Given the description of an element on the screen output the (x, y) to click on. 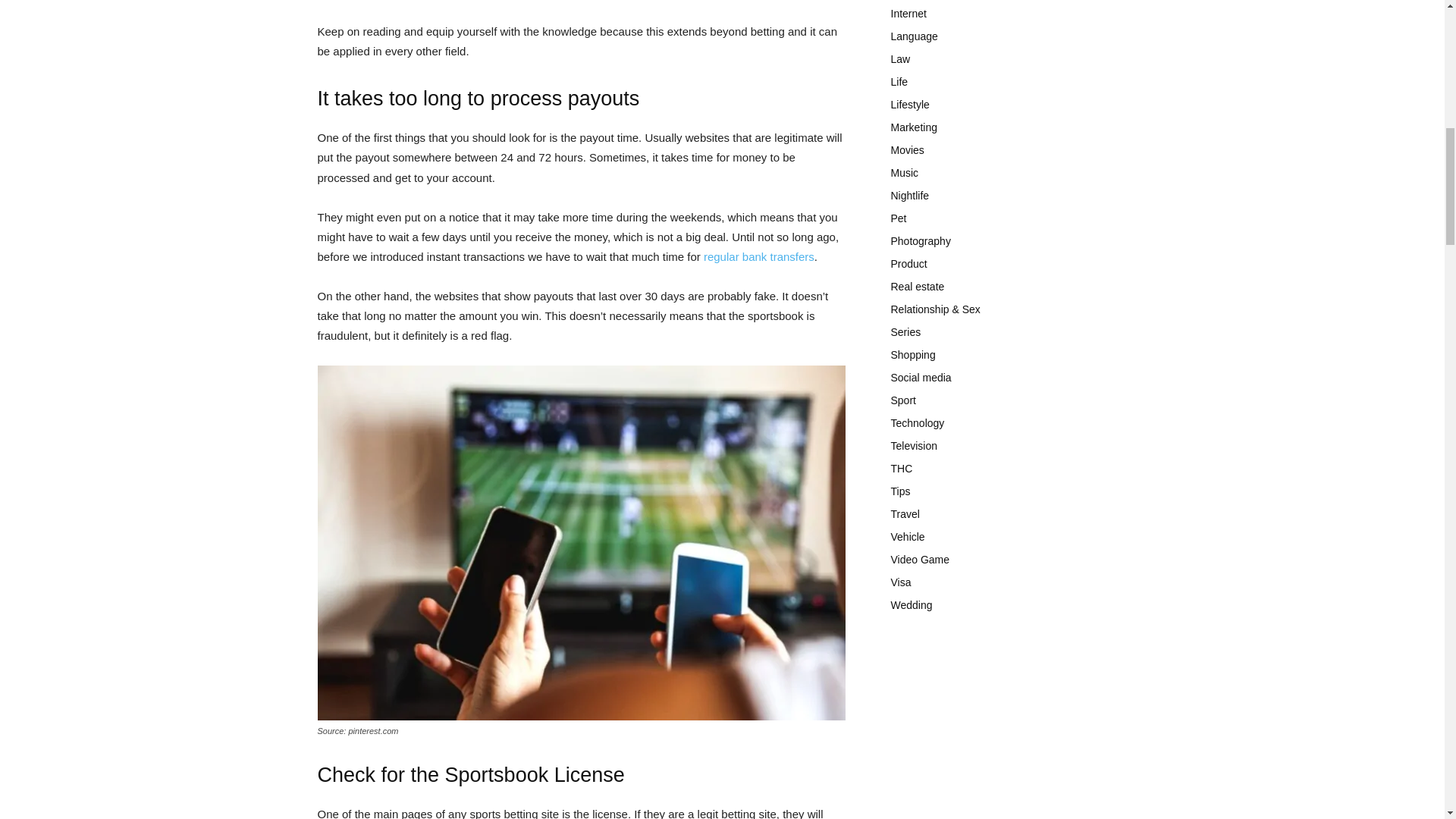
regular bank transfers (758, 256)
